Given the description of an element on the screen output the (x, y) to click on. 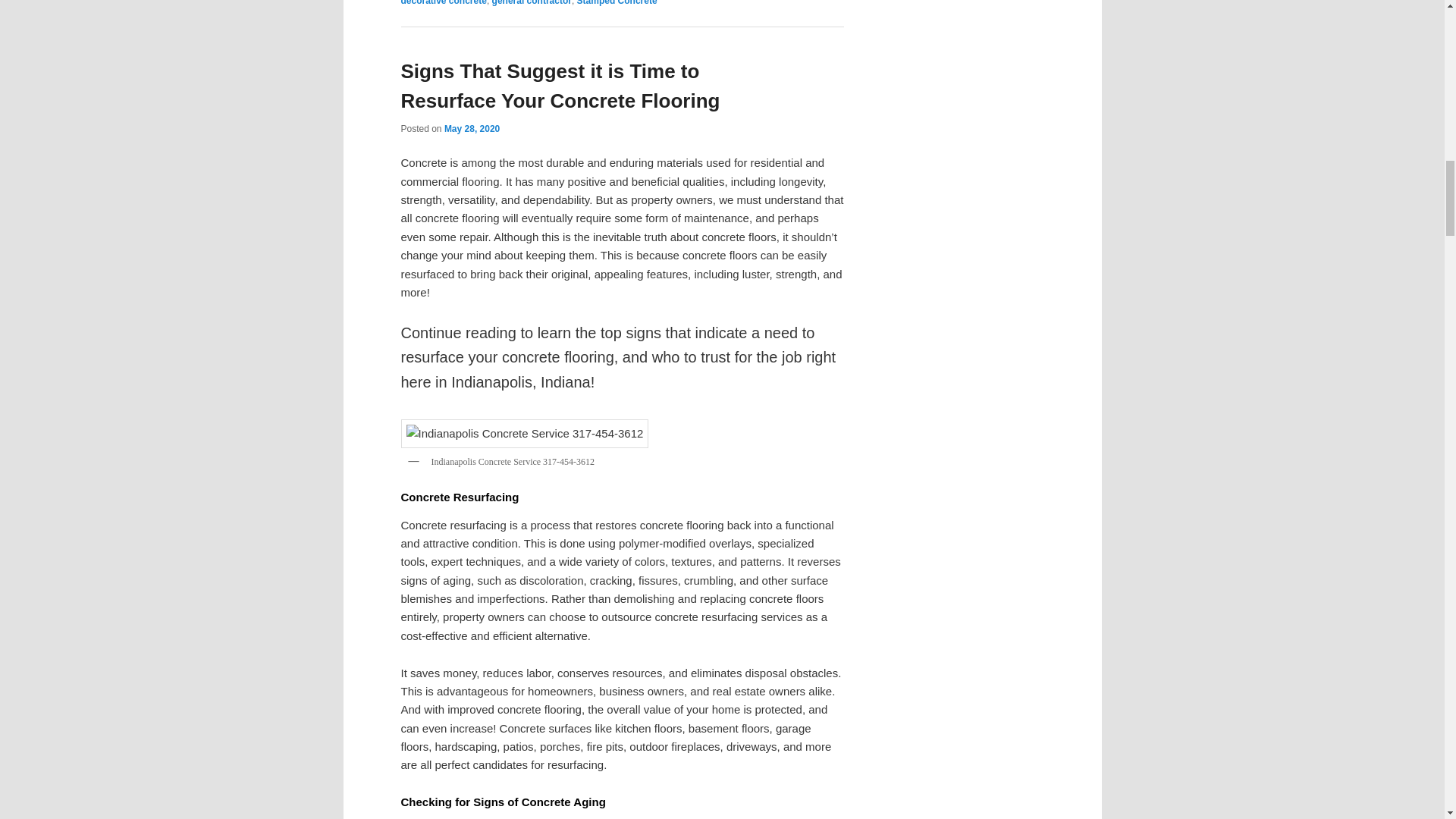
decorative concrete (443, 2)
May 28, 2020 (471, 128)
Stamped Concrete (617, 2)
general contractor (532, 2)
1:15 pm (471, 128)
